Given the description of an element on the screen output the (x, y) to click on. 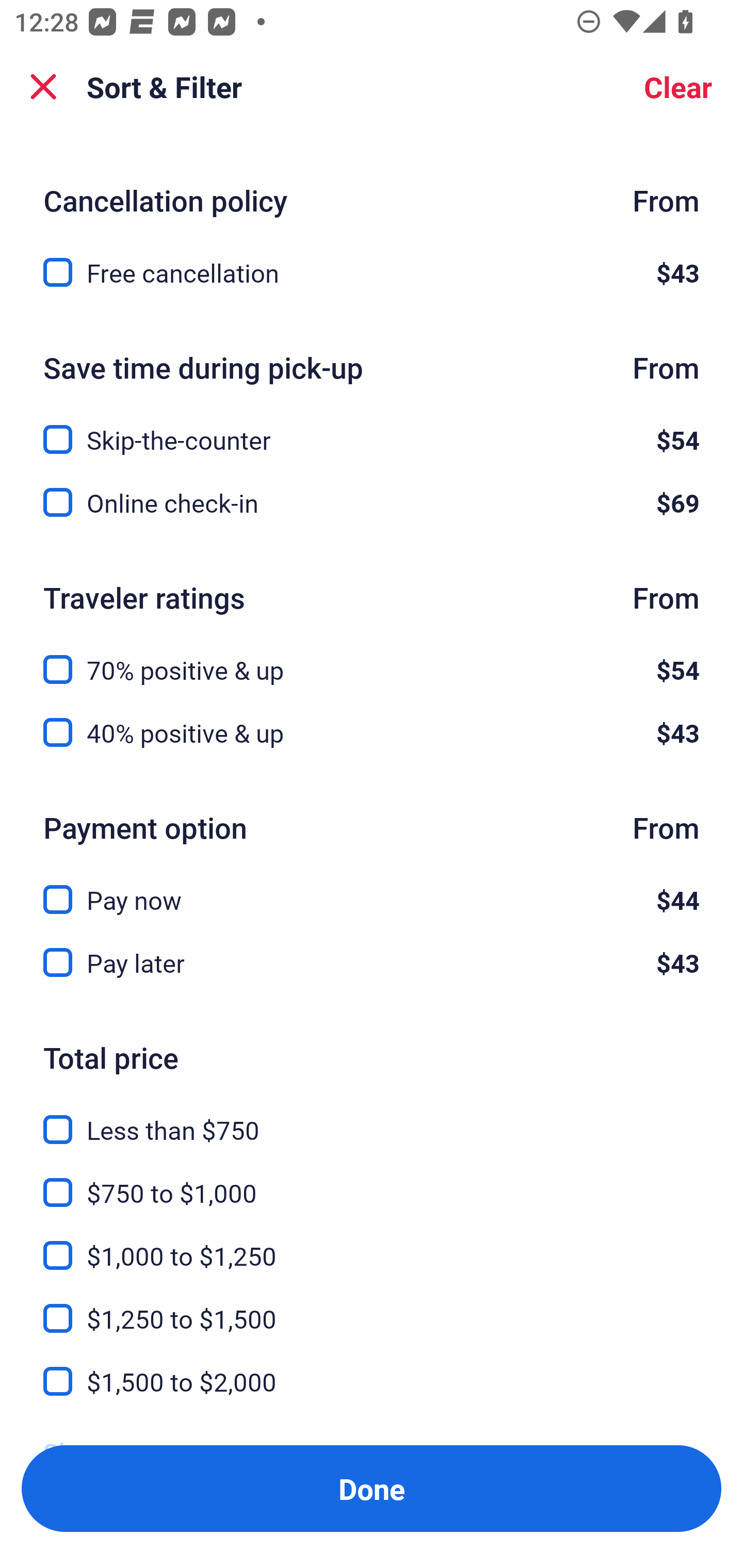
Close Sort and Filter (43, 86)
Clear (677, 86)
Free cancellation, $43 Free cancellation $43 (371, 272)
Skip-the-counter, $54 Skip-the-counter $54 (371, 427)
Online check-in, $69 Online check-in $69 (371, 502)
70% positive & up, $54 70% positive & up $54 (371, 658)
40% positive & up, $43 40% positive & up $43 (371, 732)
Pay now, $44 Pay now $44 (371, 888)
Pay later, $43 Pay later $43 (371, 963)
Less than $750, Less than $750 (371, 1117)
$750 to $1,000, $750 to $1,000 (371, 1180)
$1,000 to $1,250, $1,000 to $1,250 (371, 1243)
$1,250 to $1,500, $1,250 to $1,500 (371, 1306)
$1,500 to $2,000, $1,500 to $2,000 (371, 1382)
Apply and close Sort and Filter Done (371, 1488)
